Given the description of an element on the screen output the (x, y) to click on. 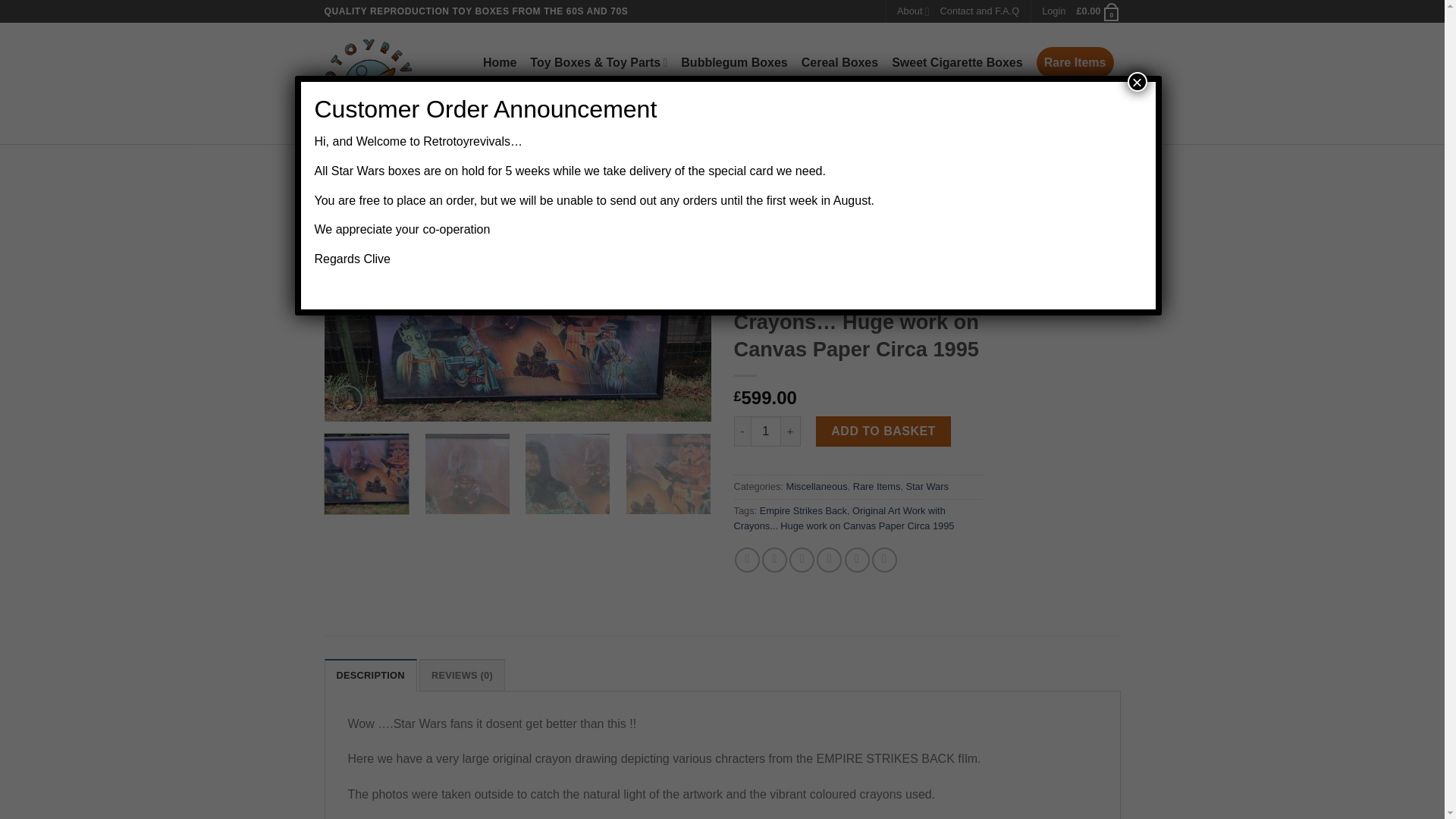
1 (765, 431)
Rare Items (1074, 62)
Cereal Boxes (839, 62)
Qty (765, 431)
Cart (1097, 11)
Sweet Cigarette Boxes (957, 62)
Contact and F.A.Q (980, 11)
Bubblegum Boxes (734, 62)
Login (1053, 11)
About (912, 11)
